Given the description of an element on the screen output the (x, y) to click on. 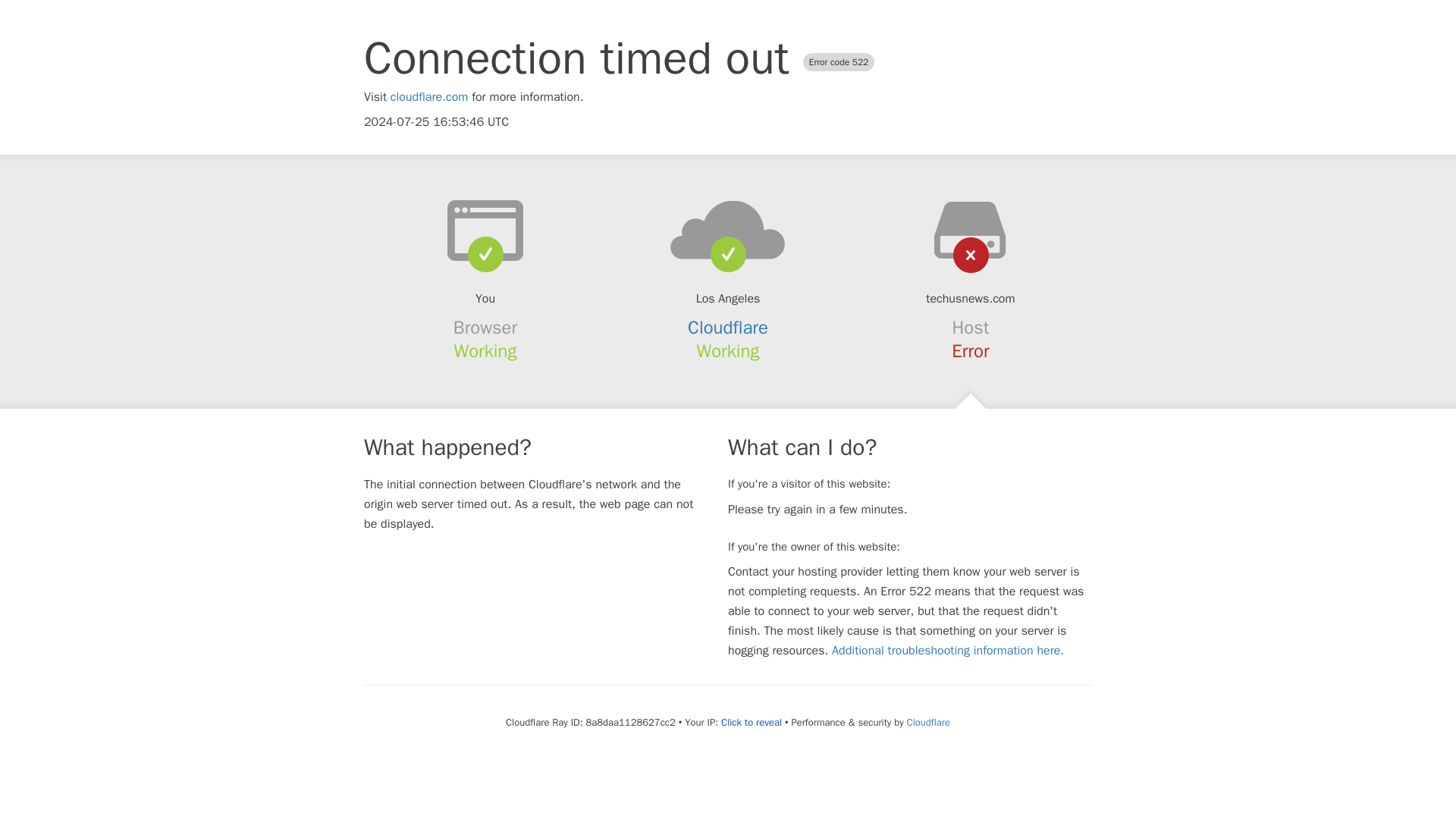
cloudflare.com (429, 96)
Additional troubleshooting information here. (947, 650)
Click to reveal (750, 722)
Cloudflare (727, 327)
Cloudflare (928, 721)
